Given the description of an element on the screen output the (x, y) to click on. 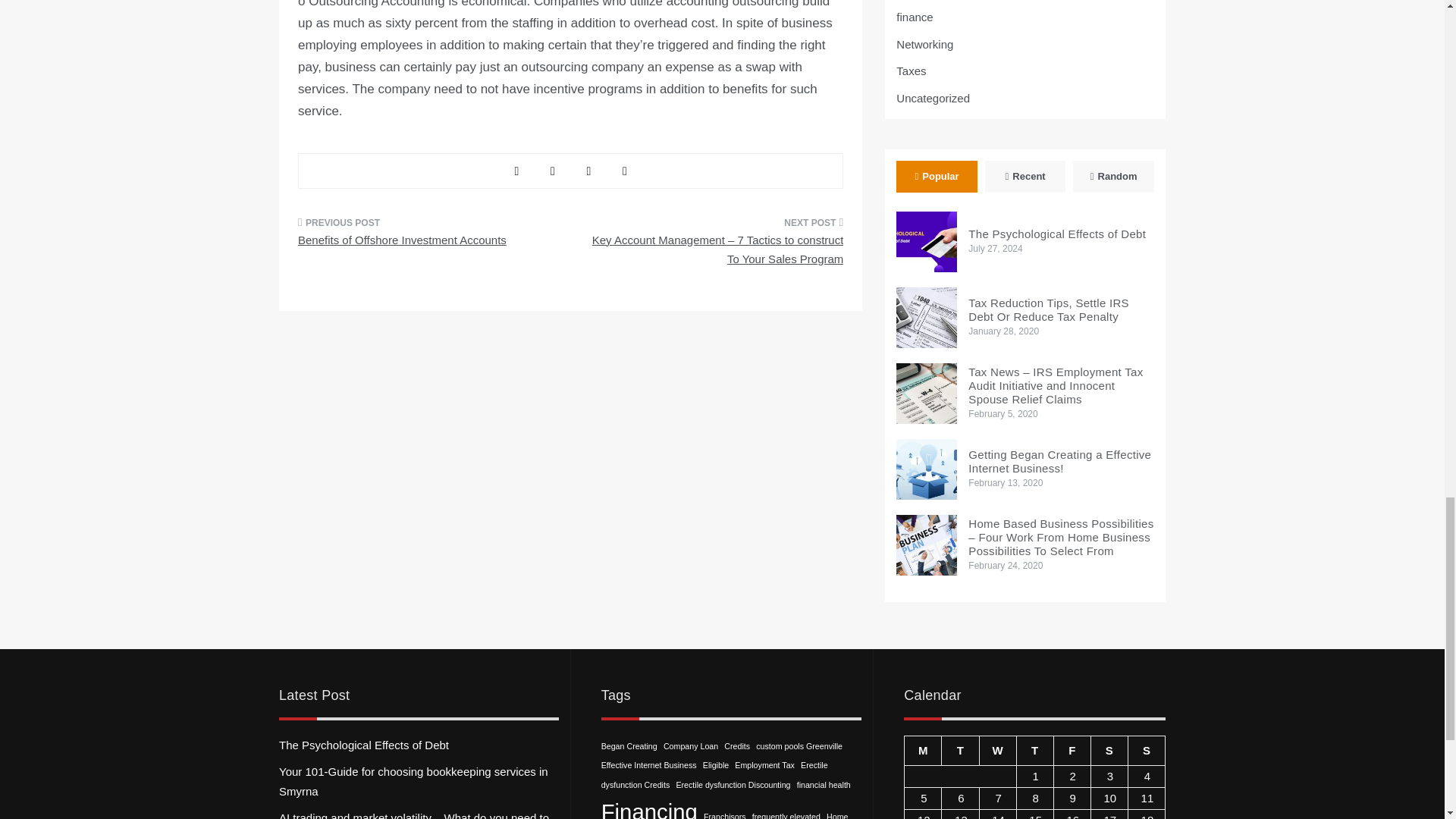
Saturday (1108, 749)
Friday (1071, 749)
Sunday (1145, 749)
Thursday (1034, 749)
Wednesday (997, 749)
Tuesday (960, 749)
Monday (923, 749)
